Given the description of an element on the screen output the (x, y) to click on. 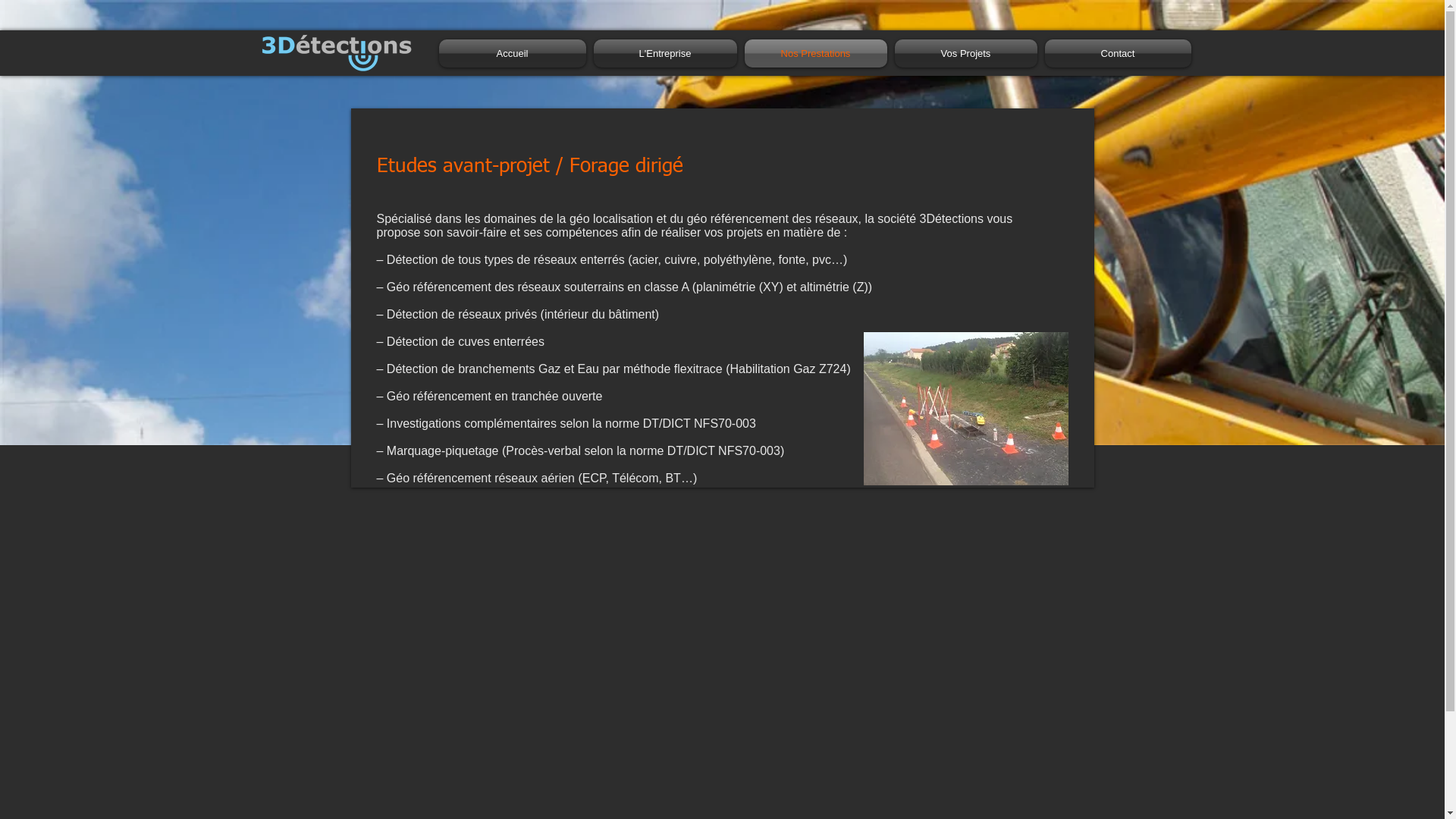
Contact Element type: text (1115, 53)
Vos Projets Element type: text (965, 53)
L'Entreprise Element type: text (664, 53)
Accueil Element type: text (513, 53)
Nos Prestations Element type: text (815, 53)
